Given the description of an element on the screen output the (x, y) to click on. 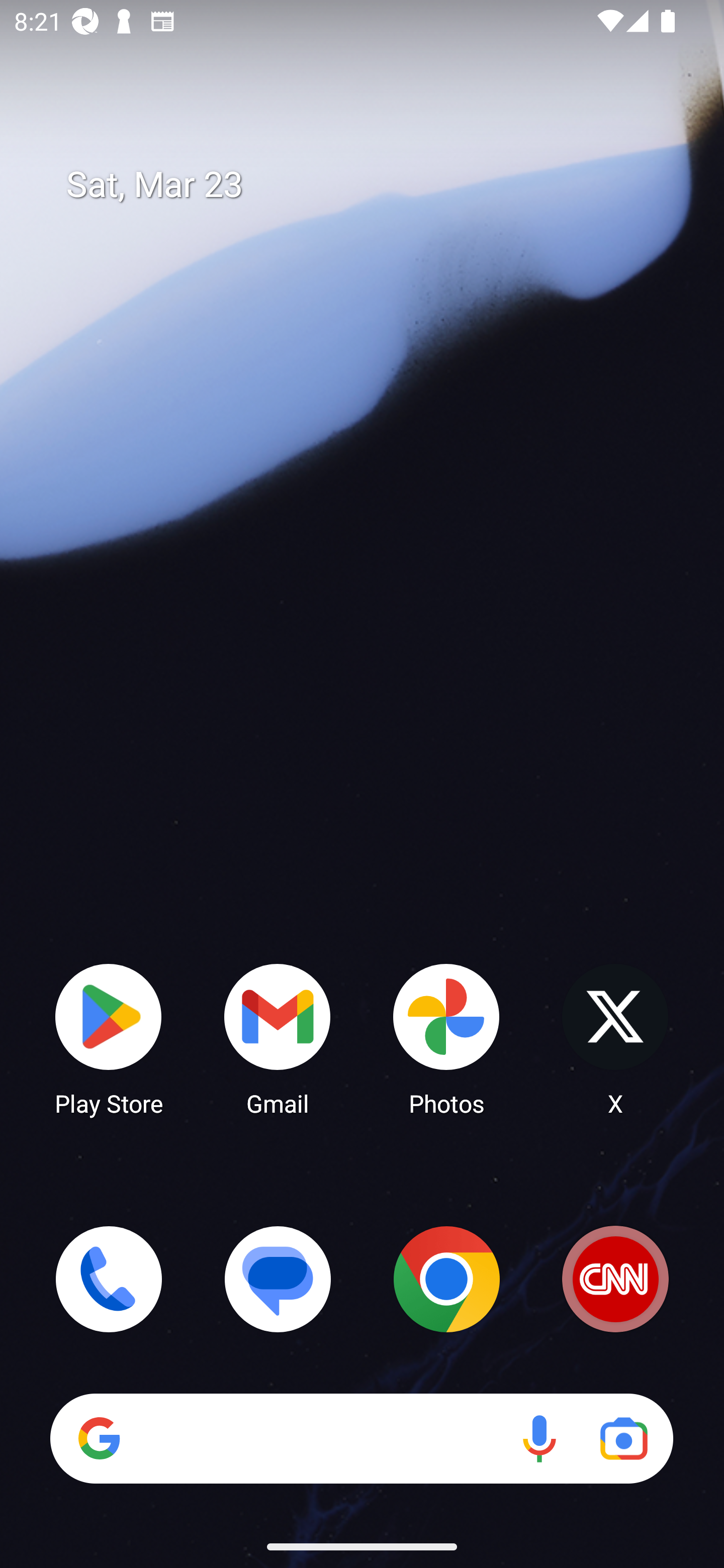
Sat, Mar 23 (375, 184)
Play Store (108, 1038)
Gmail (277, 1038)
Photos (445, 1038)
X (615, 1038)
Phone (108, 1279)
Messages (277, 1279)
Chrome (446, 1279)
CNN Predicted app: CNN (615, 1279)
Voice search (539, 1438)
Google Lens (623, 1438)
